Given the description of an element on the screen output the (x, y) to click on. 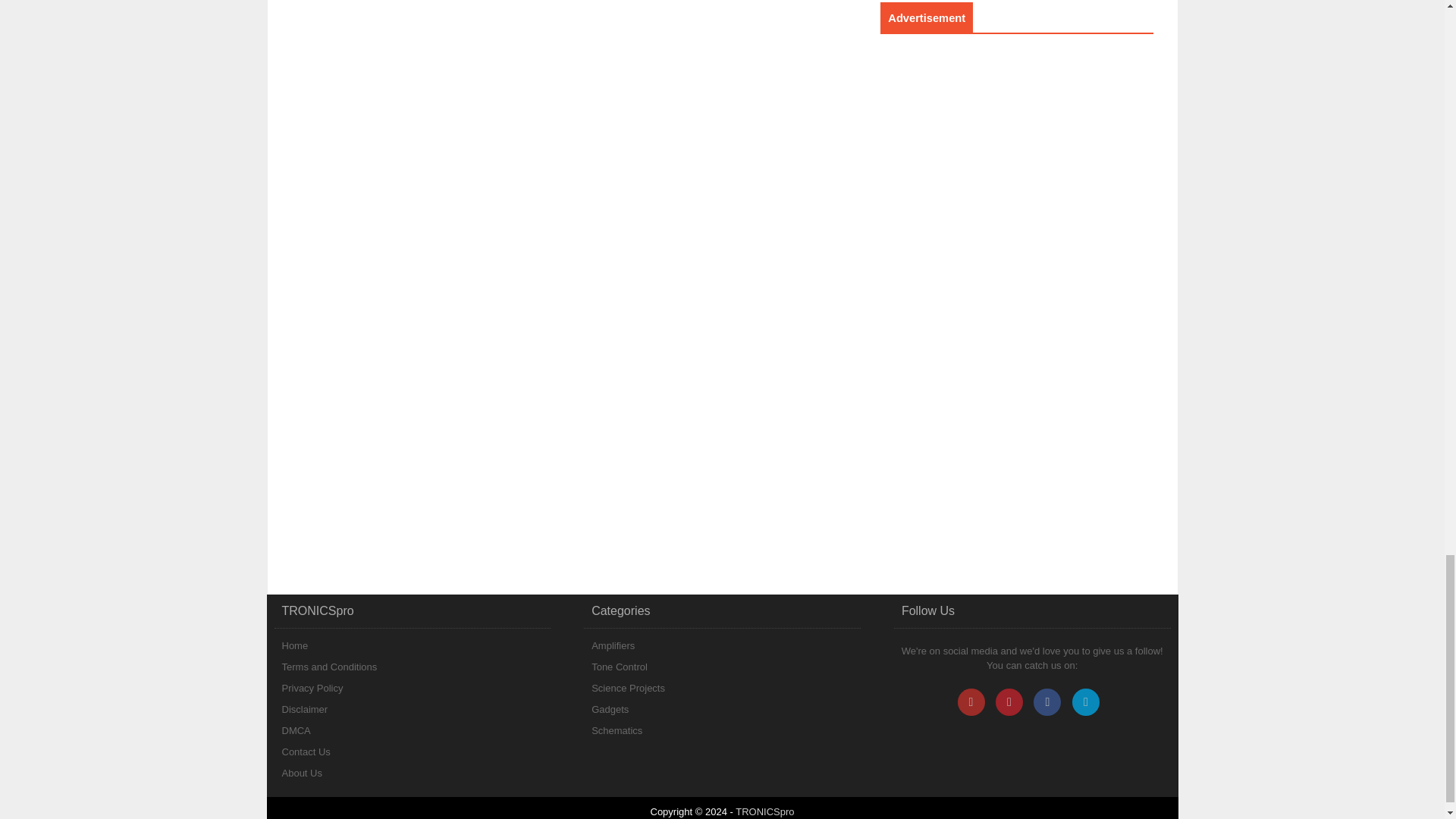
Follow Us on Twitter (1085, 701)
Subscribe Us on YouTube (970, 701)
Follow Us on Pinterest (1009, 701)
Like Our Facebook Page (1047, 701)
